Given the description of an element on the screen output the (x, y) to click on. 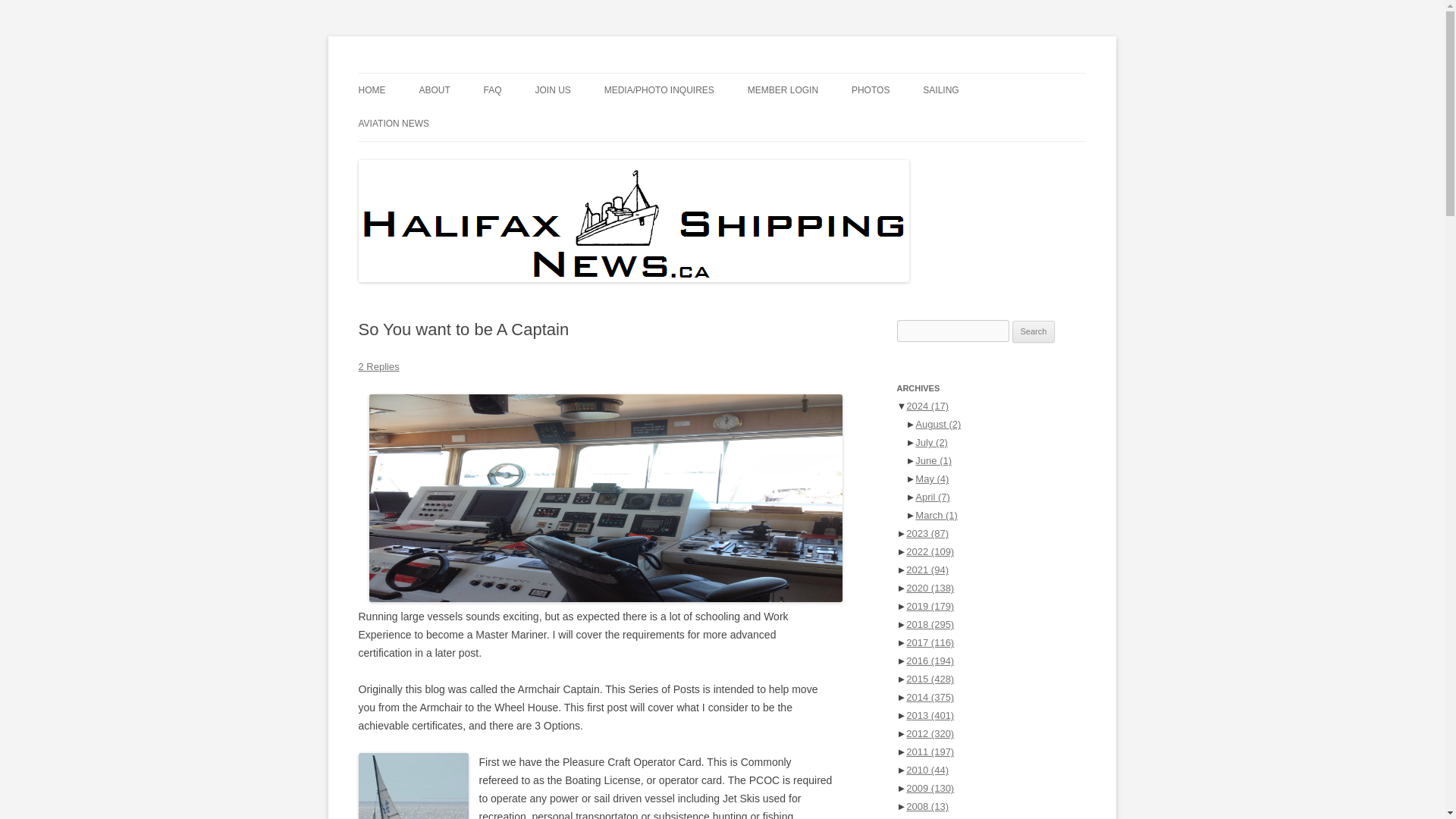
Halifax Shipping News.ca (477, 72)
August (937, 423)
July (931, 441)
AVIATION PHOTOS (927, 122)
AVIATION NEWS (393, 123)
MEMBER LOGIN (783, 90)
2 Replies (378, 366)
SAILING (940, 90)
PHOTOS (870, 90)
